Given the description of an element on the screen output the (x, y) to click on. 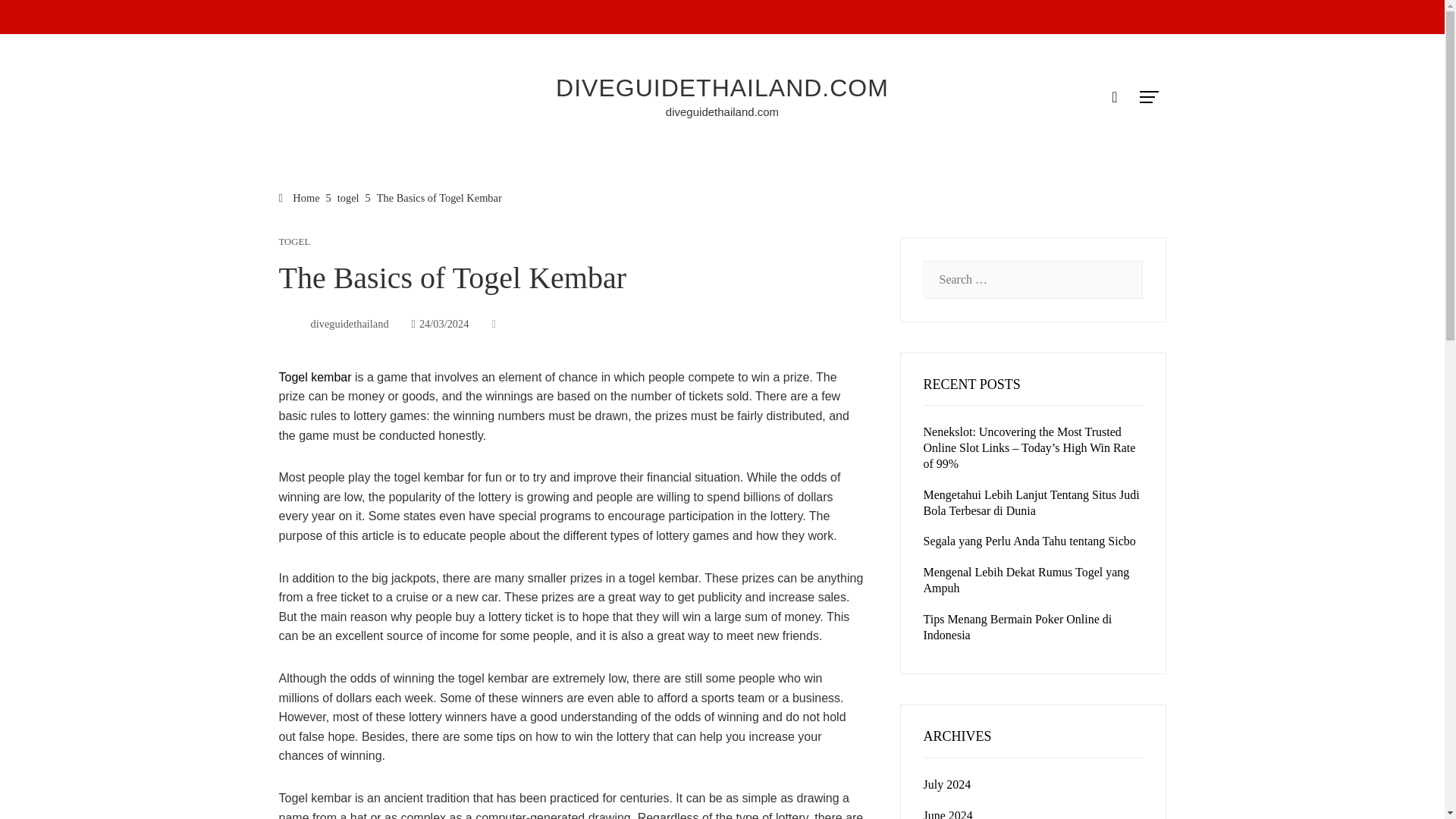
Search (35, 18)
July 2024 (947, 784)
Segala yang Perlu Anda Tahu tentang Sicbo (1029, 540)
Tips Menang Bermain Poker Online di Indonesia (1017, 626)
Mengenal Lebih Dekat Rumus Togel yang Ampuh (1026, 579)
togel (348, 197)
DIVEGUIDETHAILAND.COM (722, 87)
TOGEL (295, 242)
Home (299, 197)
Togel kembar (317, 377)
June 2024 (947, 814)
diveguidethailand.com (721, 111)
